Given the description of an element on the screen output the (x, y) to click on. 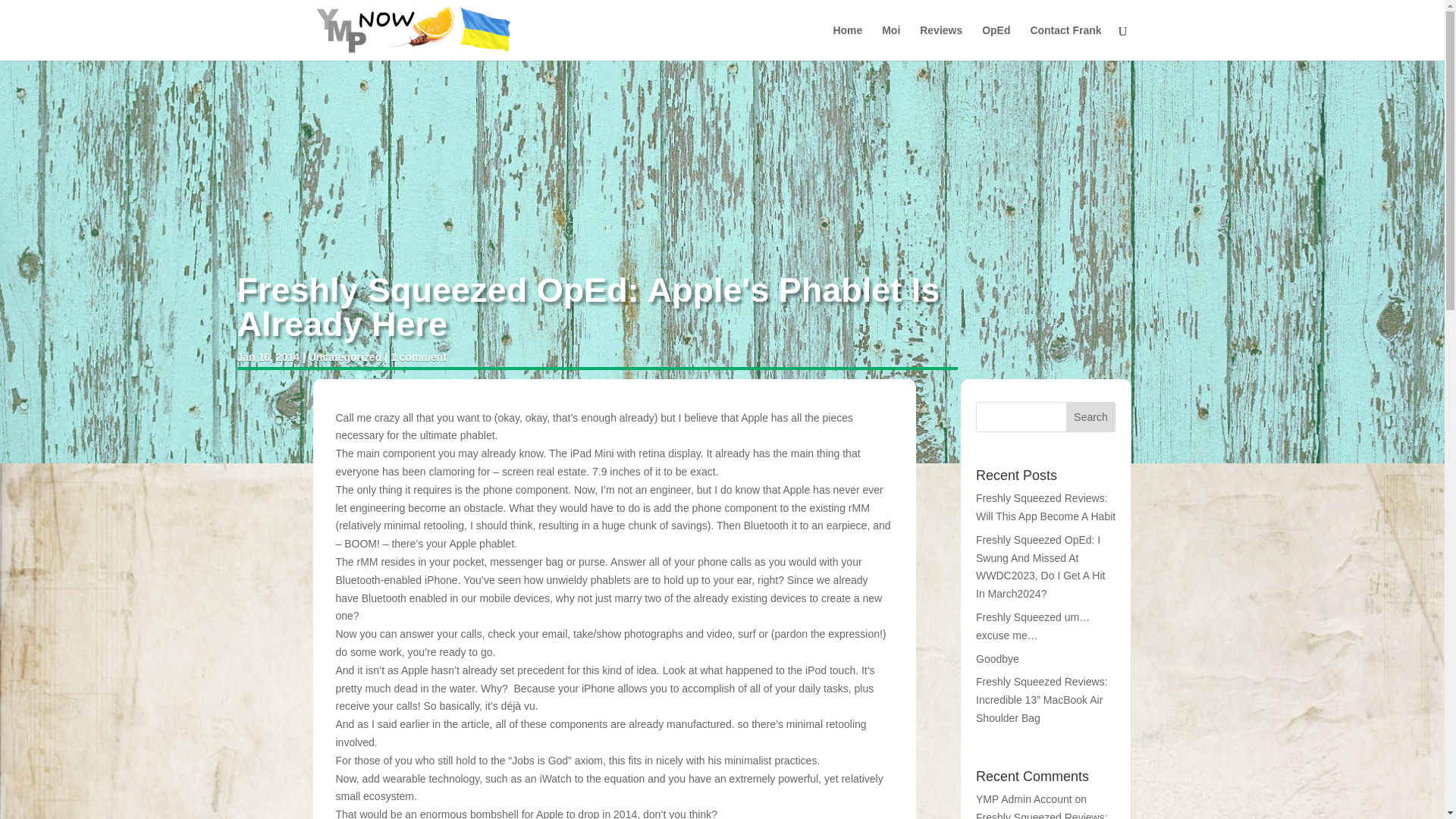
Search (1090, 417)
Uncategorized (344, 357)
Freshly Squeezed Reviews: Will This App Become A Habit (1045, 815)
Freshly Squeezed Reviews: Will This App Become A Habit (1045, 507)
Reviews (941, 42)
Contact Frank (1064, 42)
1 comment (418, 357)
Goodbye (997, 658)
Search (1090, 417)
